Given the description of an element on the screen output the (x, y) to click on. 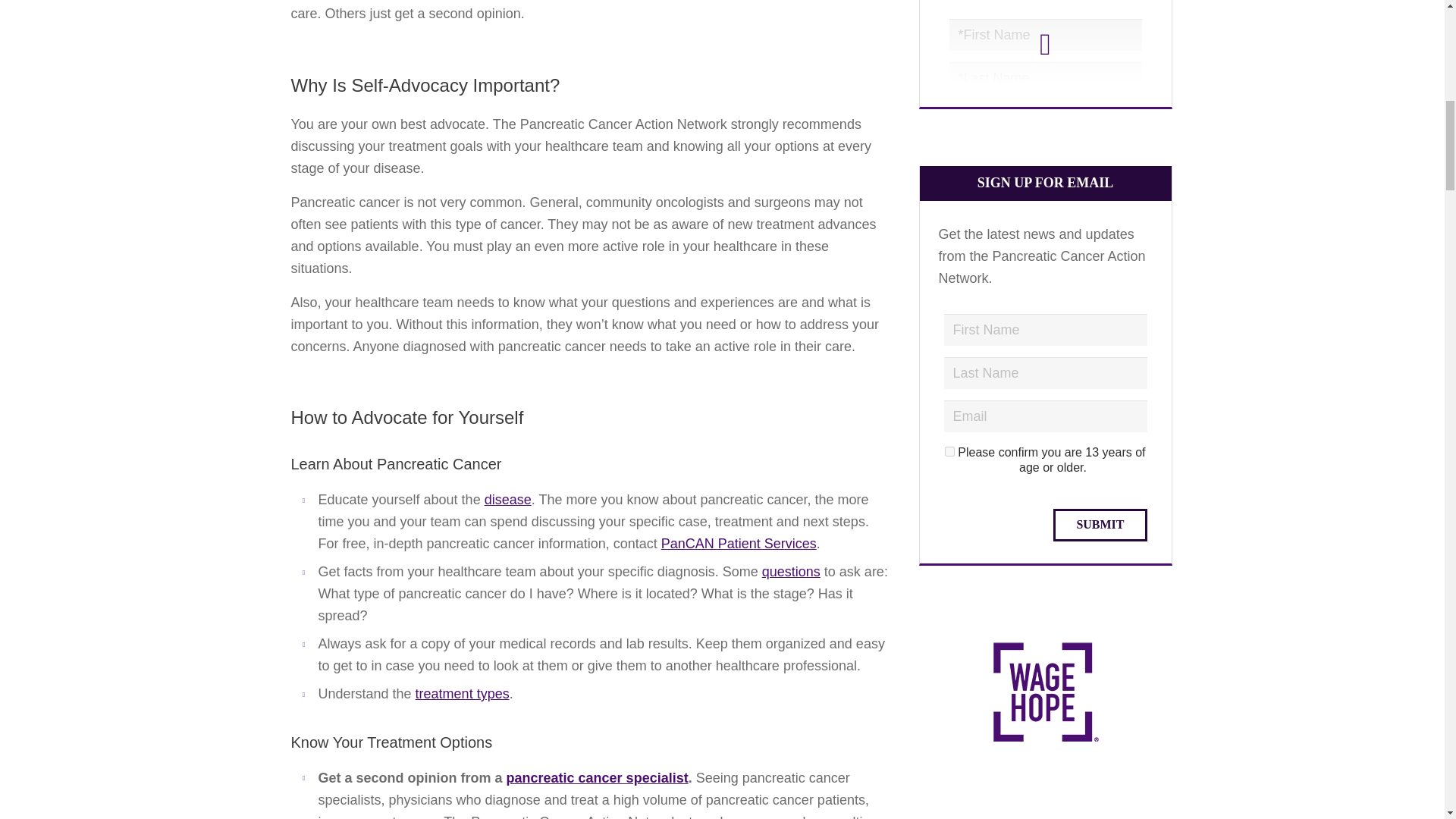
Yes (948, 451)
Submit (1099, 524)
